Given the description of an element on the screen output the (x, y) to click on. 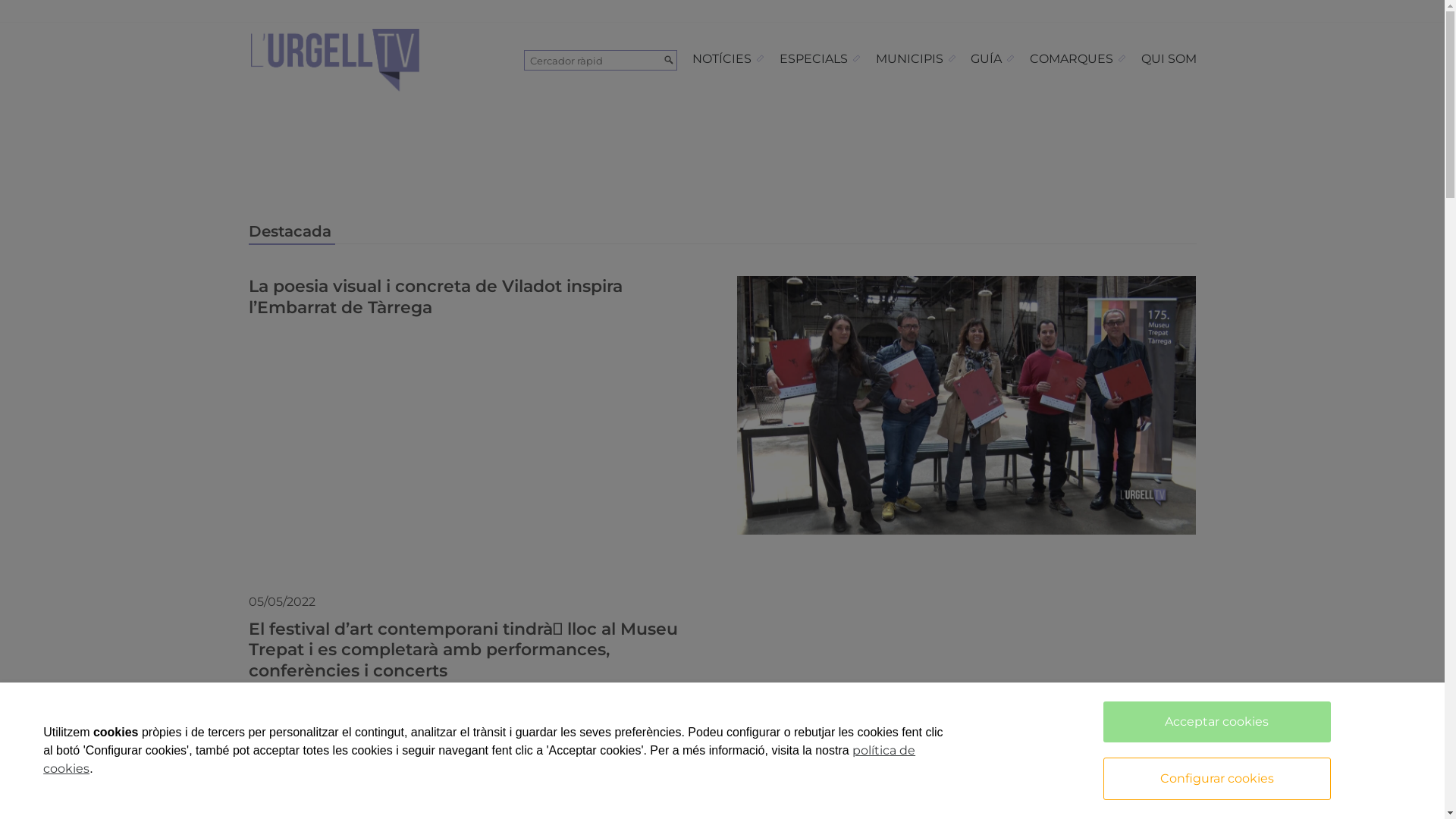
CULTURA Element type: text (295, 701)
SOCIETAT Element type: text (388, 701)
QUI SOM Element type: text (1167, 58)
Configurar cookies Element type: text (1216, 778)
MUNICIPIS Element type: text (915, 58)
ESPECIALS Element type: text (819, 58)
Acceptar cookies Element type: text (1216, 721)
COMARQUES Element type: text (1077, 58)
  Element type: text (1091, 10)
